Given the description of an element on the screen output the (x, y) to click on. 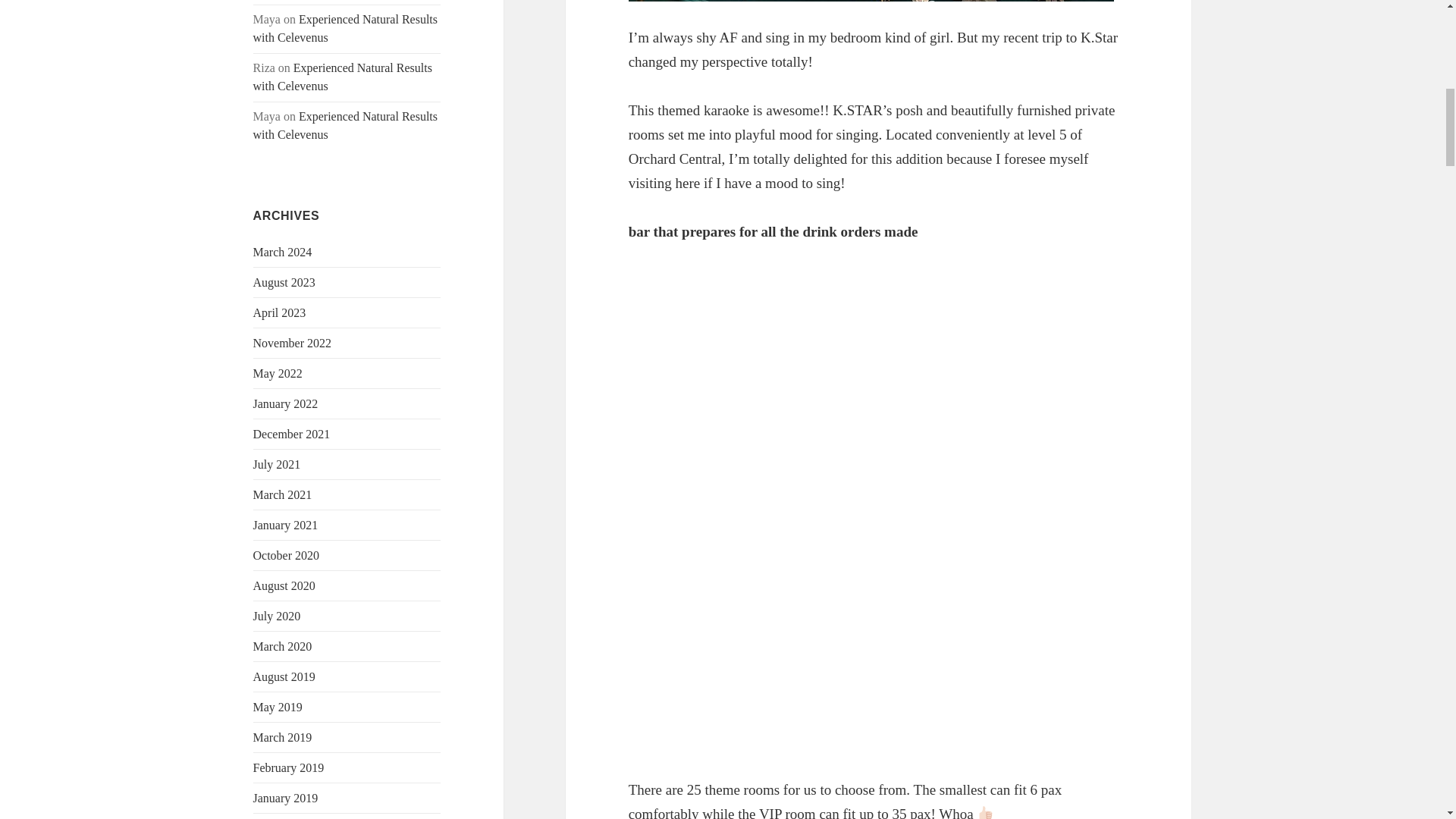
Experienced Natural Results with Celevenus (345, 28)
January 2022 (285, 403)
August 2019 (284, 676)
May 2019 (277, 707)
Experienced Natural Results with Celevenus (345, 124)
February 2019 (288, 767)
January 2021 (285, 524)
October 2020 (286, 554)
March 2020 (283, 645)
May 2022 (277, 373)
